Given the description of an element on the screen output the (x, y) to click on. 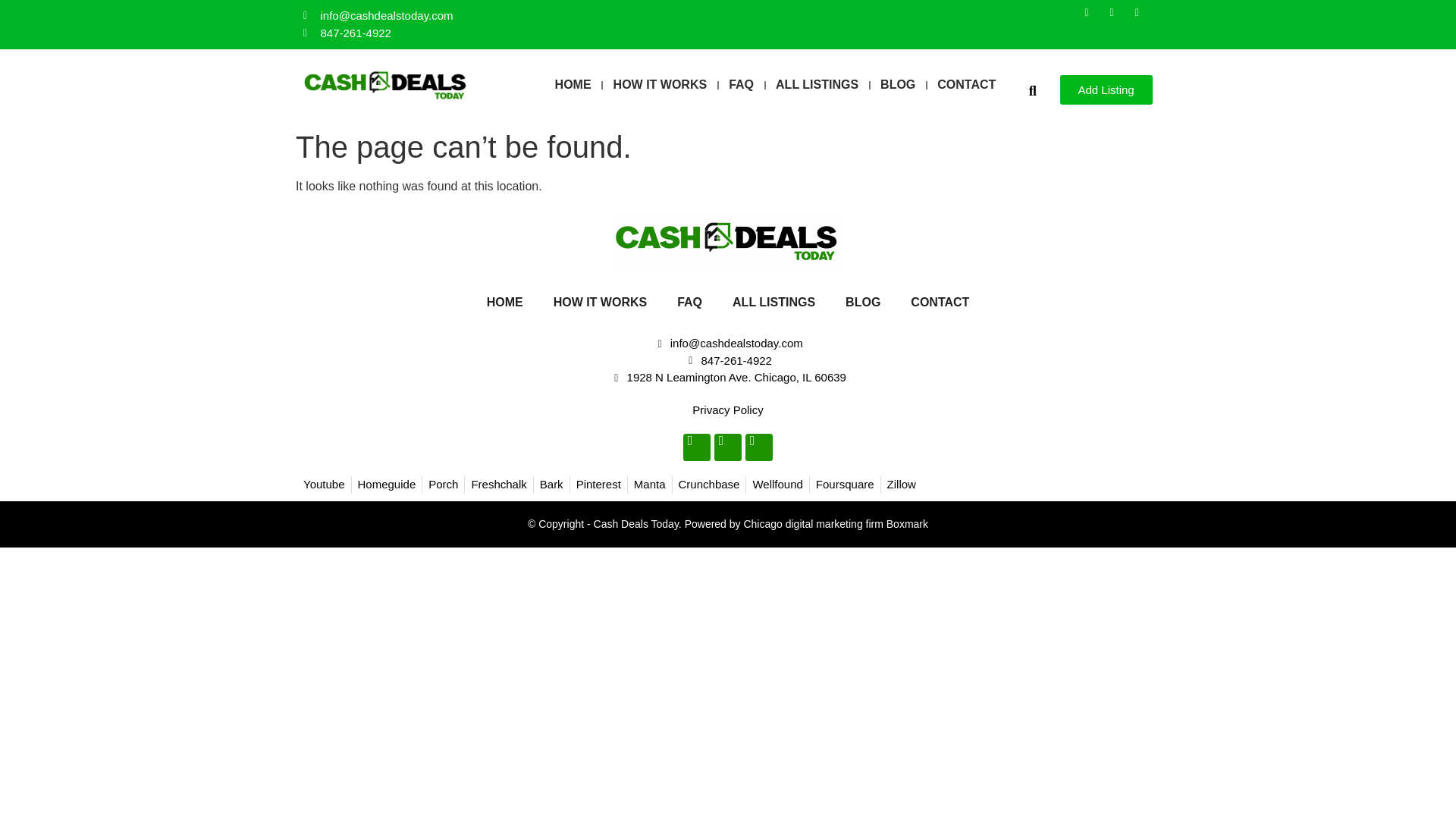
CONTACT (939, 302)
HOME (504, 302)
BLOG (897, 84)
Privacy Policy (727, 410)
FAQ (740, 84)
FAQ (689, 302)
HOW IT WORKS (660, 84)
ALL LISTINGS (817, 84)
Add Listing (1106, 89)
HOW IT WORKS (600, 302)
HOME (572, 84)
BLOG (862, 302)
ALL LISTINGS (773, 302)
CONTACT (966, 84)
847-261-4922 (511, 32)
